Given the description of an element on the screen output the (x, y) to click on. 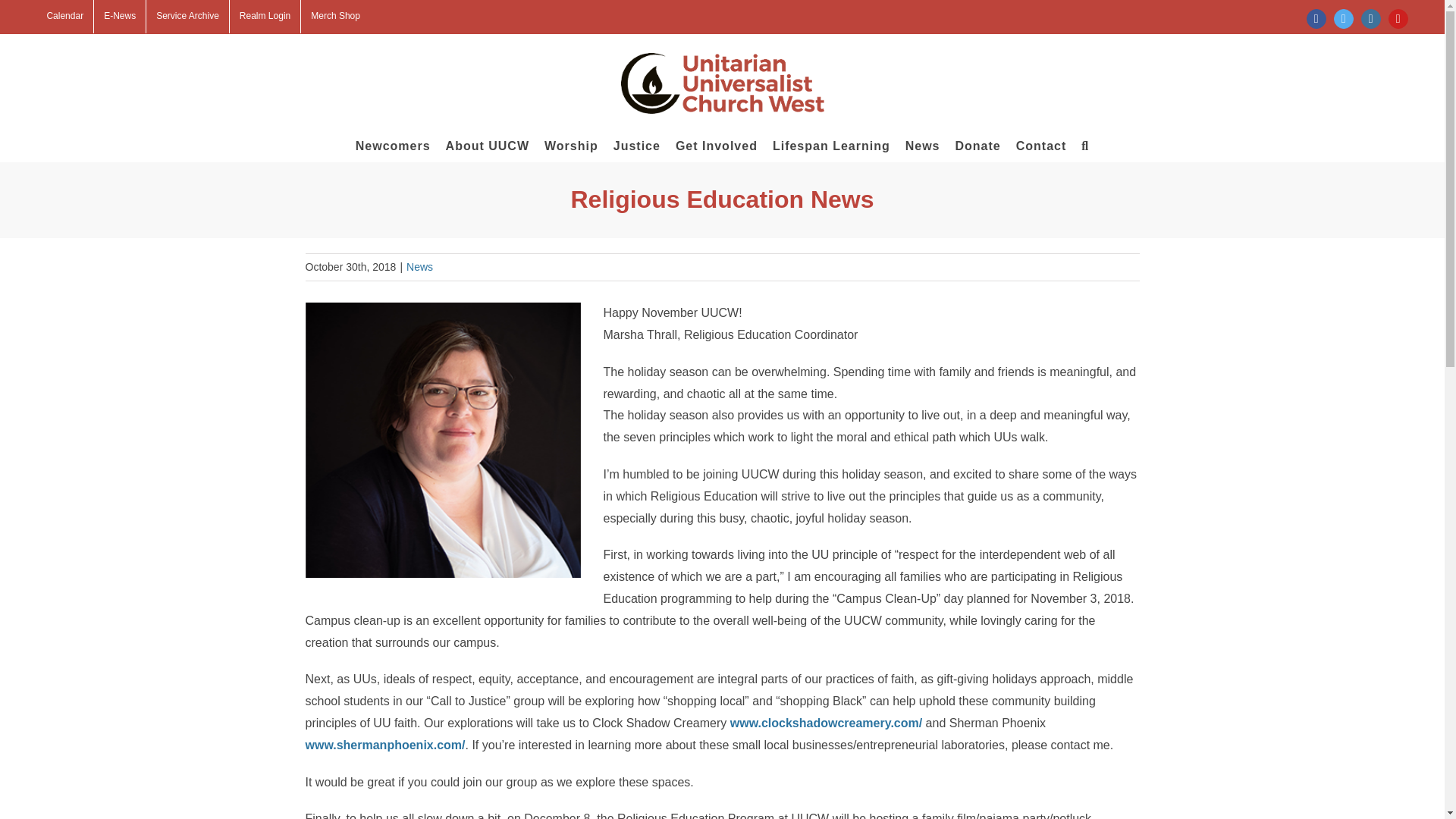
YouTube (1398, 18)
Realm Login (264, 16)
Facebook (1316, 18)
Merch Shop (335, 16)
Calendar (64, 16)
Instagram (1370, 18)
Worship (571, 145)
Facebook (1316, 18)
Lifespan Learning (831, 145)
YouTube (1398, 18)
